Given the description of an element on the screen output the (x, y) to click on. 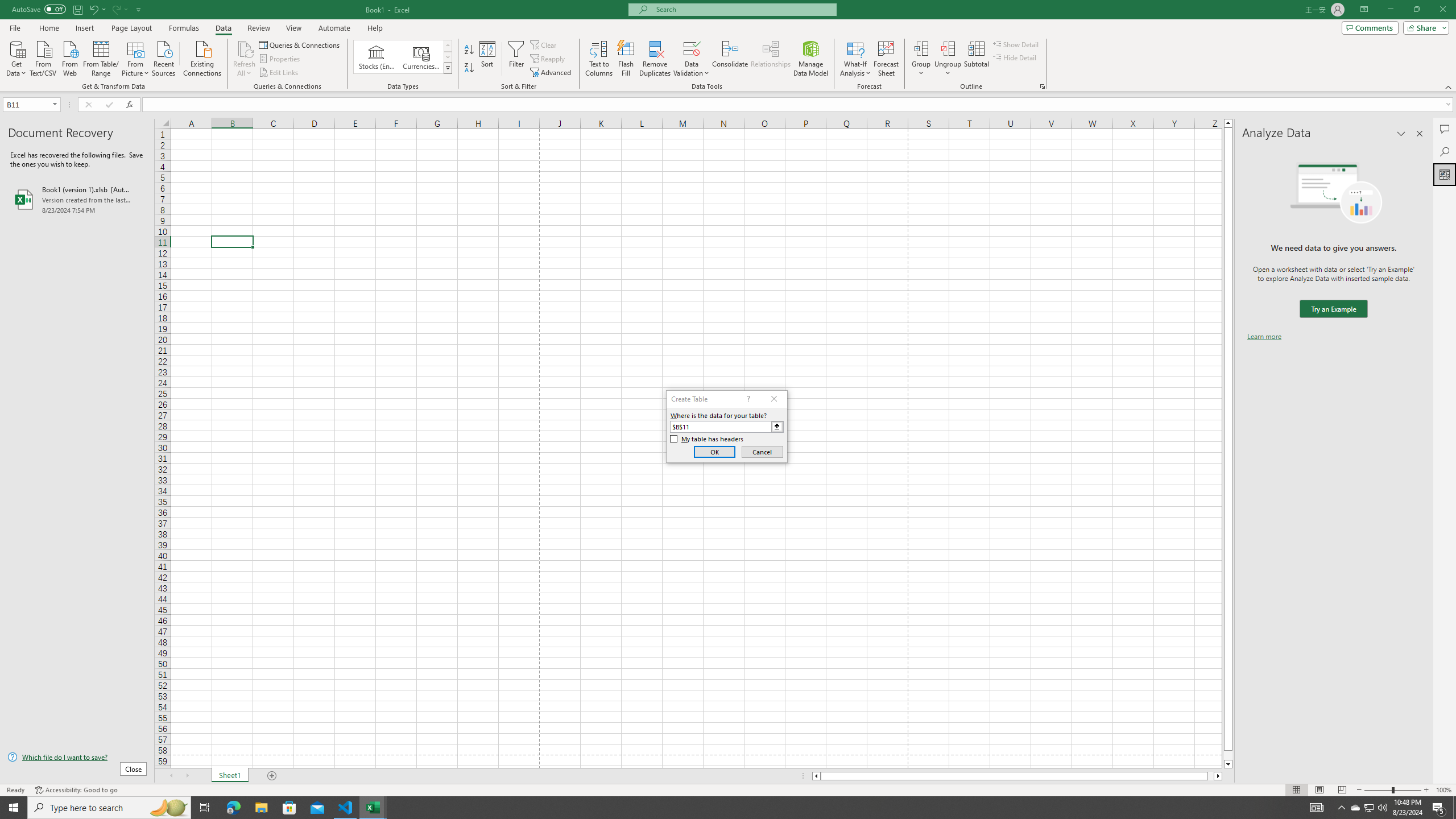
From Text/CSV (43, 57)
Class: MsoCommandBar (728, 45)
Hide Detail (1014, 56)
AutoSave (38, 9)
Flash Fill (625, 58)
Learn more (1264, 336)
